Given the description of an element on the screen output the (x, y) to click on. 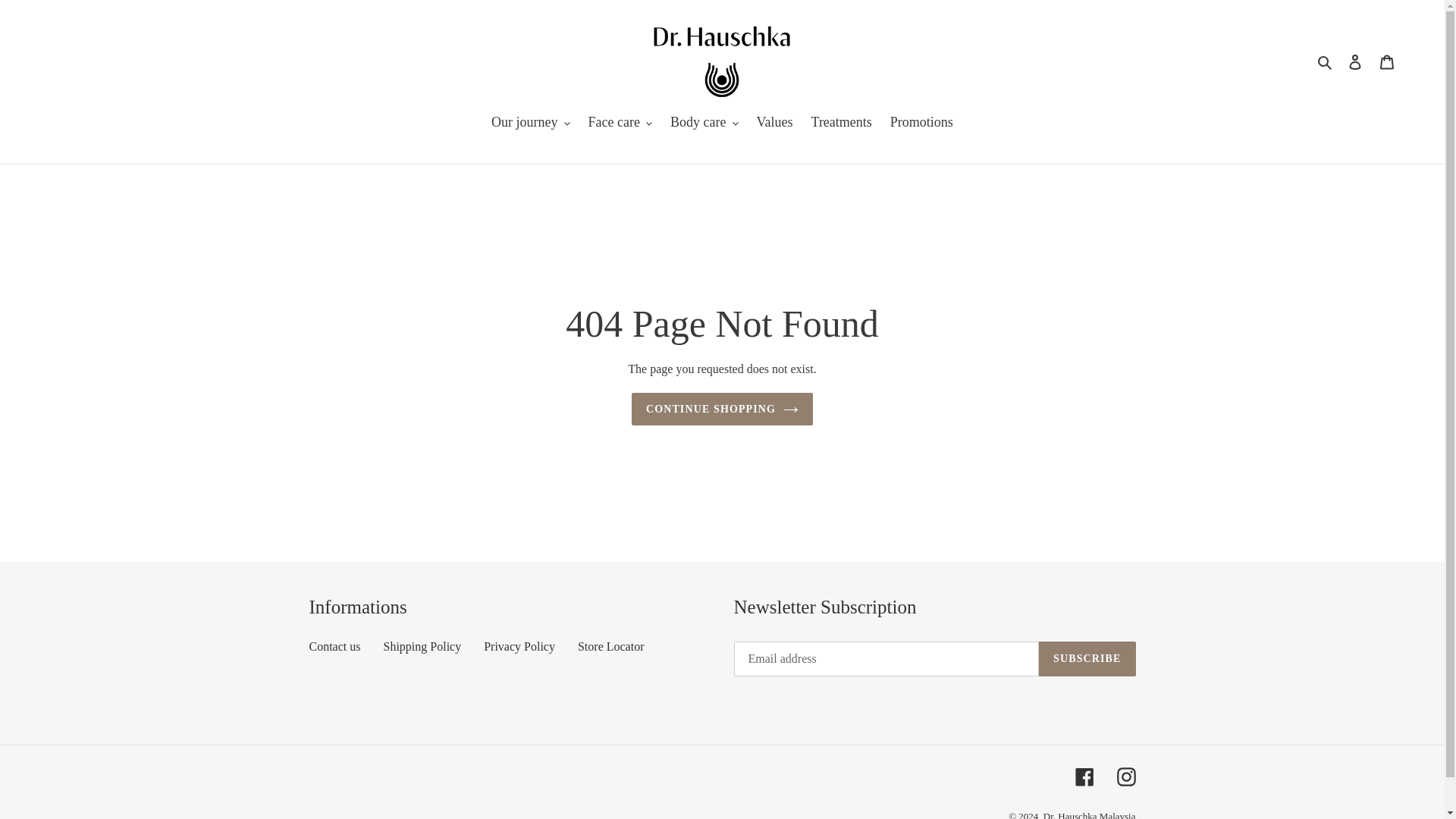
Log in (1355, 61)
Search (1326, 61)
Cart (1387, 61)
